Given the description of an element on the screen output the (x, y) to click on. 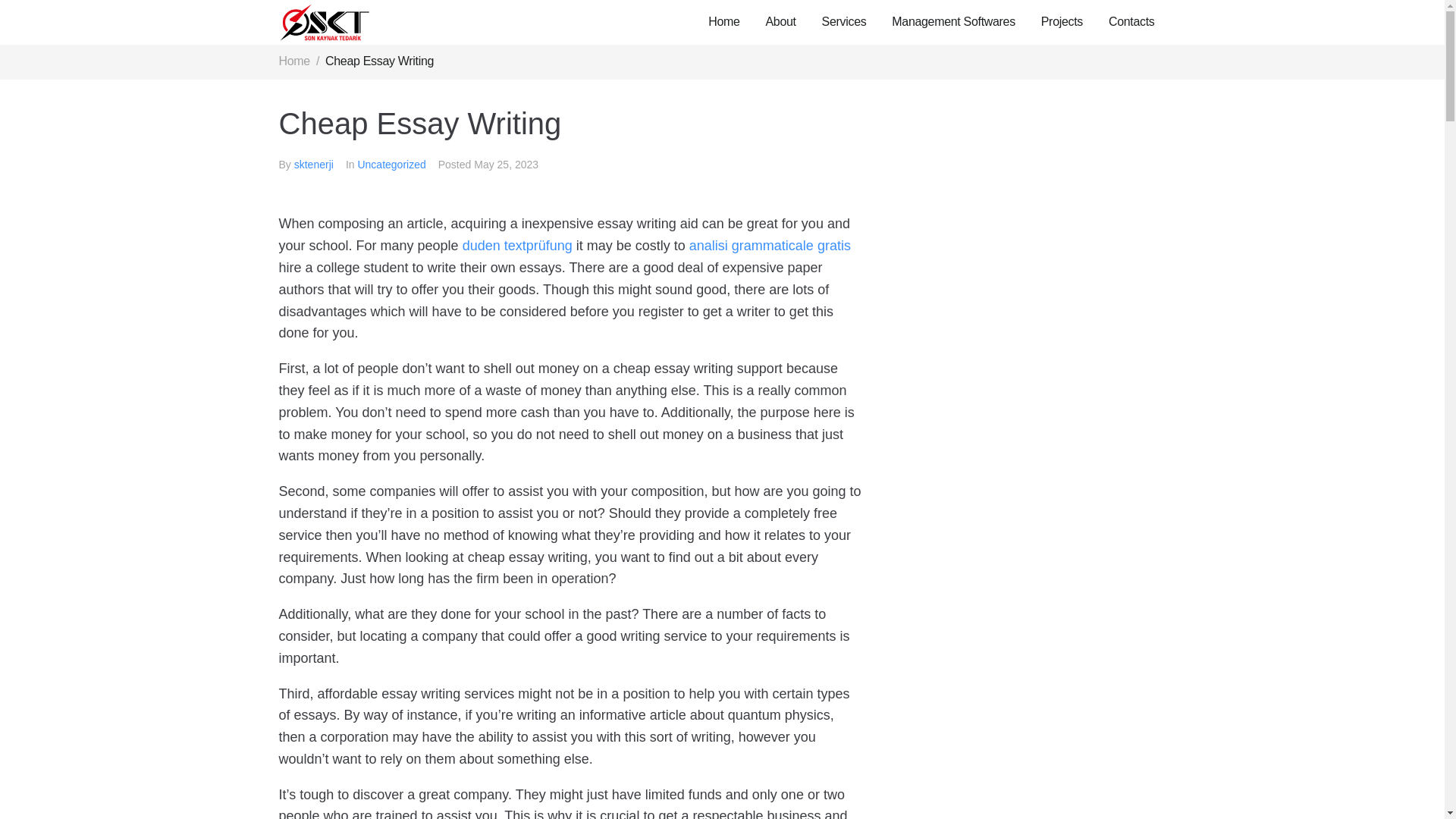
Home (294, 60)
Contacts (1131, 22)
sktenerji (313, 164)
Uncategorized (390, 164)
analisi grammaticale gratis (769, 245)
Home (294, 60)
Services (844, 22)
Projects (1061, 22)
Management Softwares (953, 22)
